Given the description of an element on the screen output the (x, y) to click on. 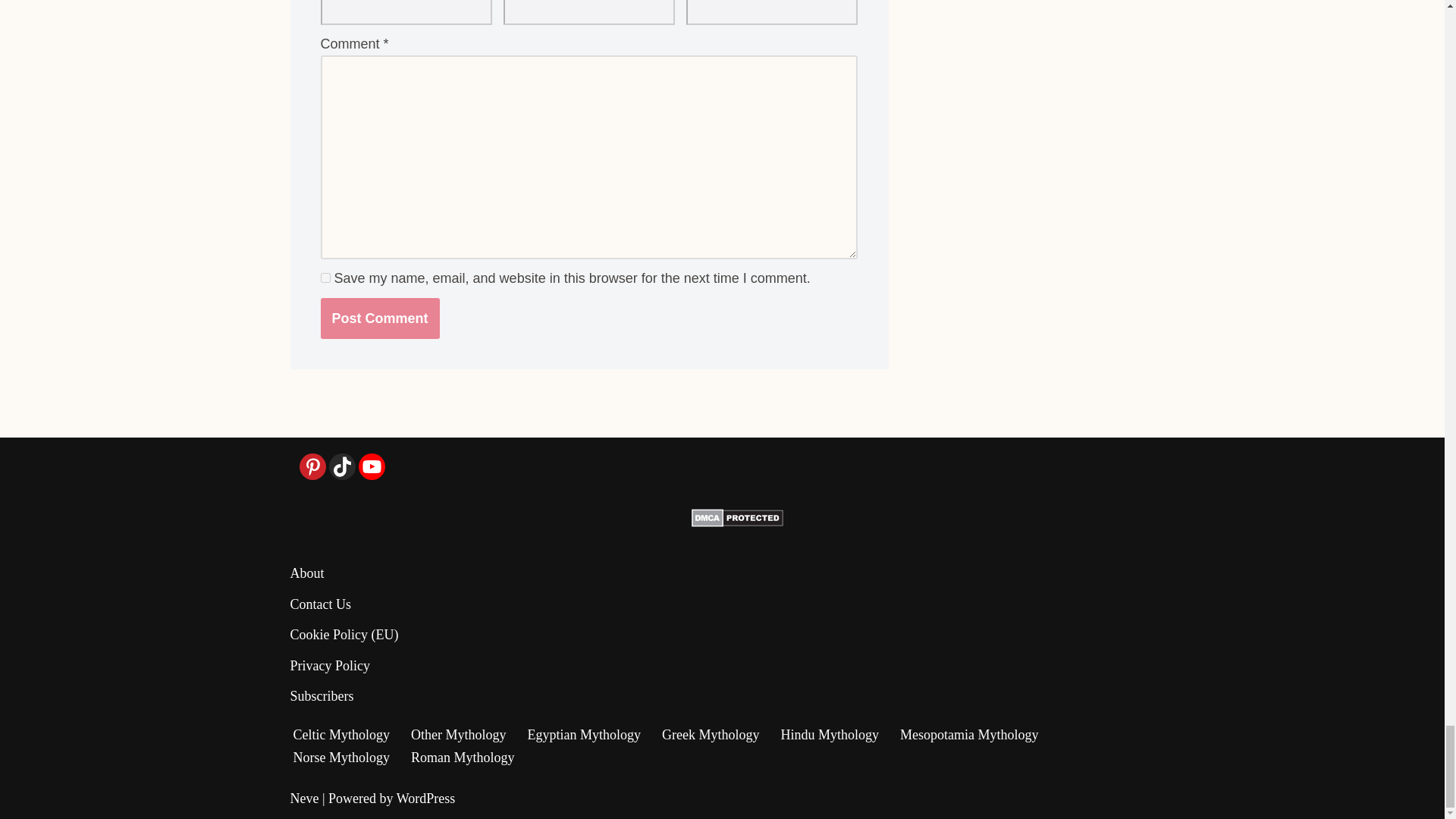
yes (325, 277)
Post Comment (379, 318)
TikTok (342, 466)
Pinterest (311, 466)
